Given the description of an element on the screen output the (x, y) to click on. 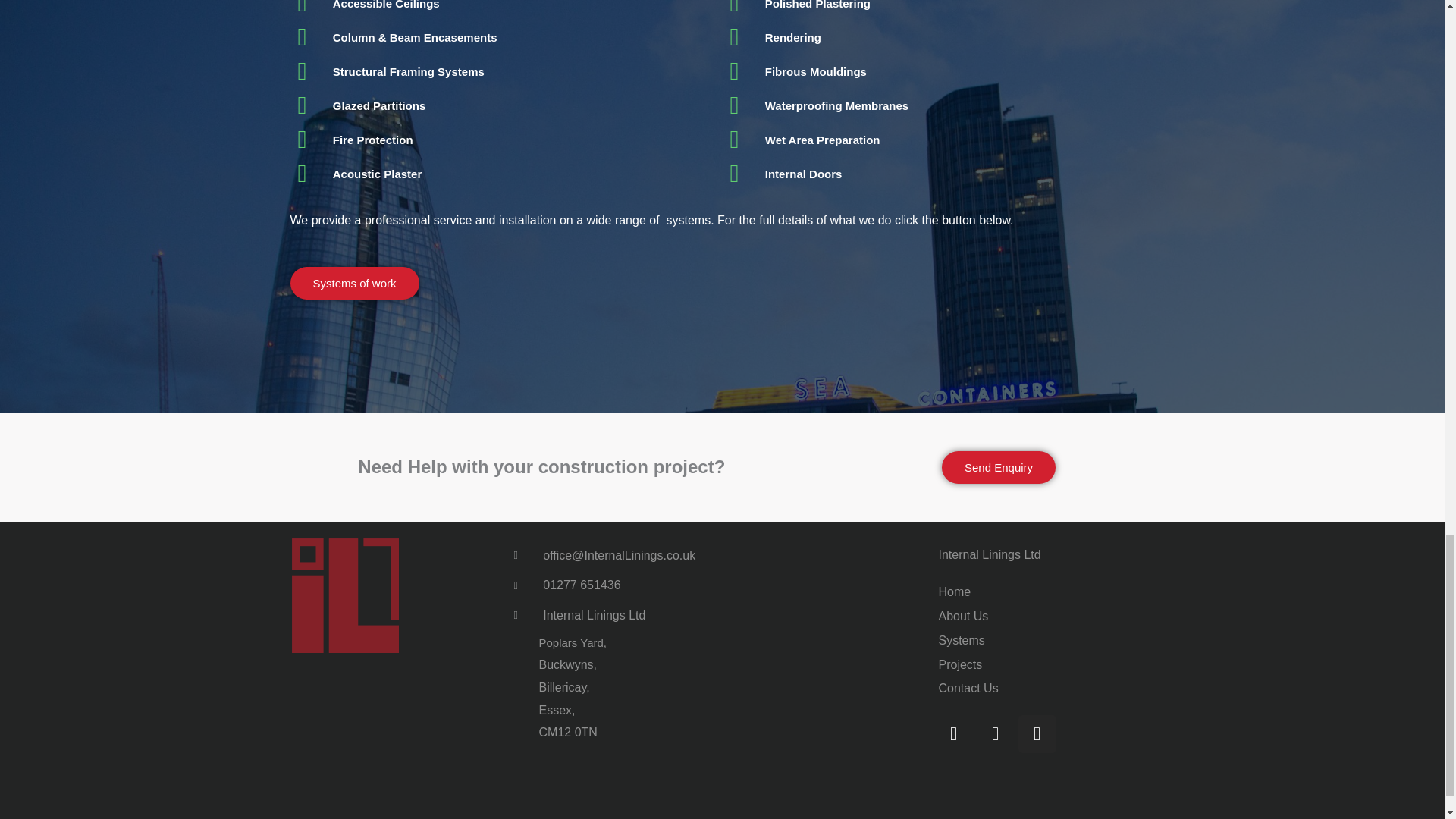
Internal Linings Ltd (613, 615)
Contact Us (1046, 688)
01277 651436 (613, 585)
About Us (1046, 616)
Home (1046, 591)
Send Enquiry (998, 467)
Internal Linings Ltd (1046, 554)
Projects (1046, 664)
Systems (1046, 640)
Systems of work (354, 282)
